Given the description of an element on the screen output the (x, y) to click on. 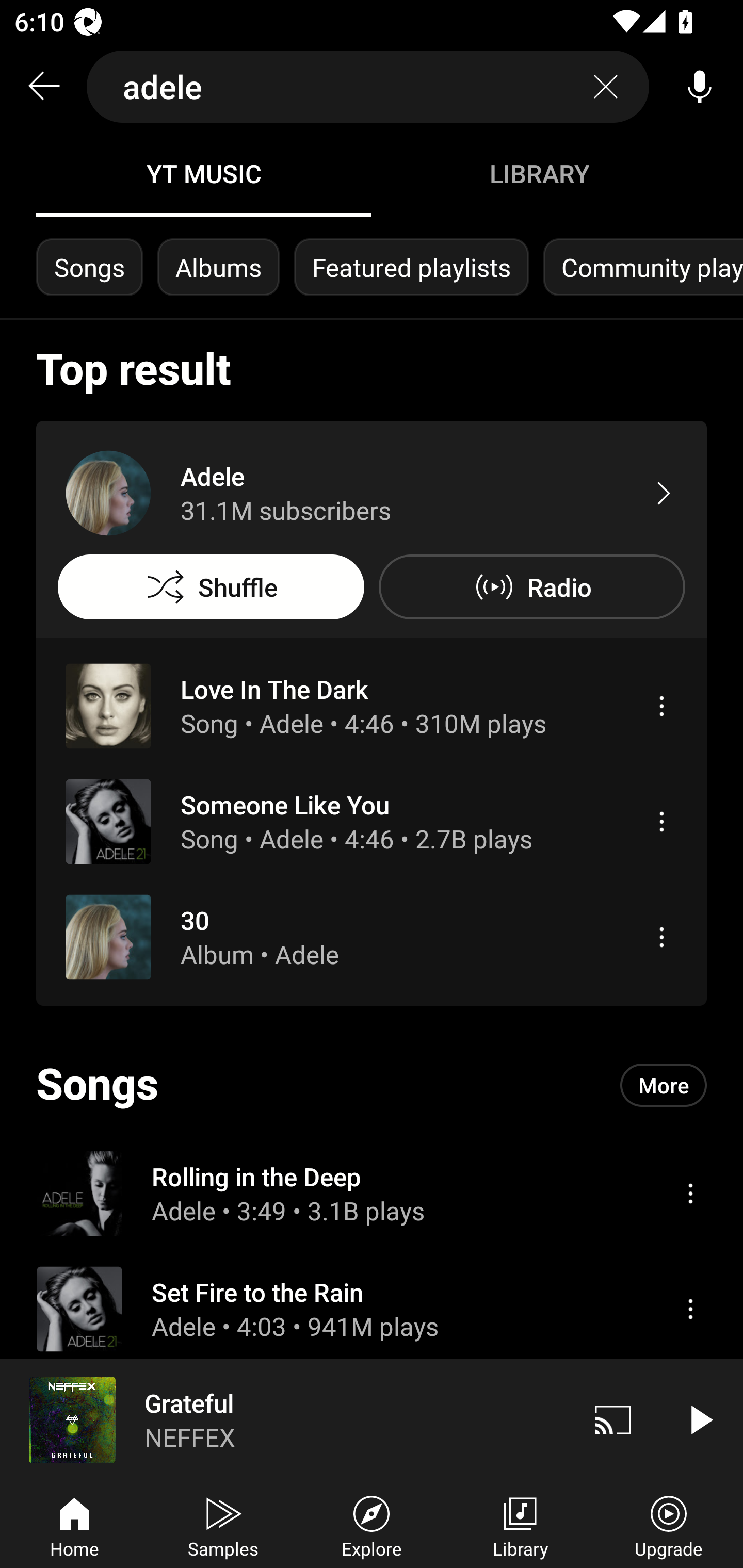
Search back (43, 86)
adele (367, 86)
Clear search (605, 86)
Voice search (699, 86)
Library LIBRARY (538, 173)
Shuffle (210, 587)
Radio (531, 587)
Menu (661, 705)
Menu (661, 821)
Menu (661, 937)
Songs More More (371, 1084)
More (663, 1085)
Menu (690, 1193)
Menu (690, 1309)
Grateful NEFFEX (284, 1419)
Cast. Disconnected (612, 1419)
Play video (699, 1419)
Home (74, 1524)
Samples (222, 1524)
Explore (371, 1524)
Library (519, 1524)
Upgrade (668, 1524)
